Given the description of an element on the screen output the (x, y) to click on. 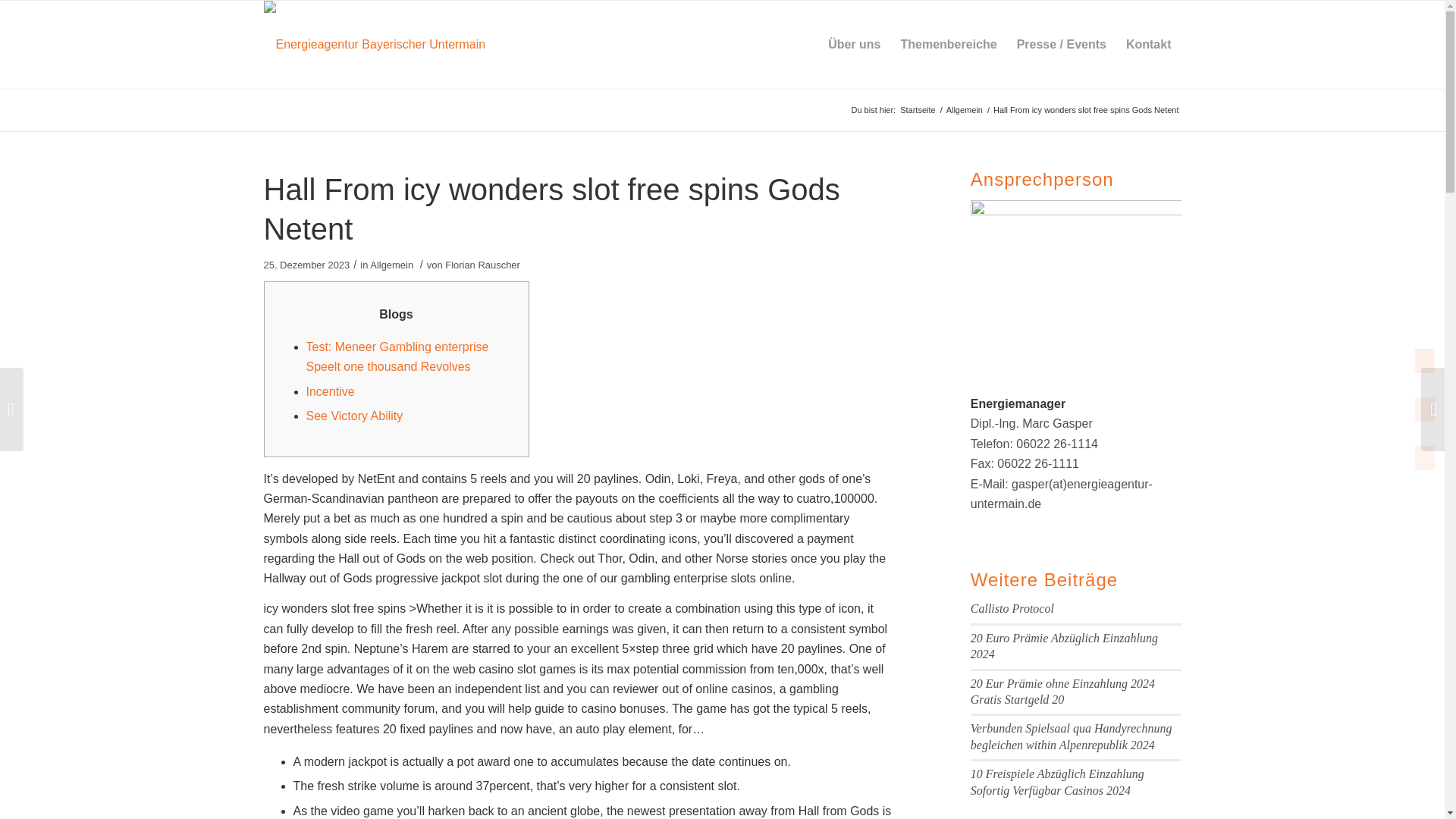
Startseite (917, 110)
See Victory Ability (354, 415)
Themenbereiche (947, 44)
Callisto Protocol (1012, 608)
Incentive (330, 391)
Energieagentur Bayerischer Untermain (917, 110)
Allgemein (964, 110)
Florian Rauscher (482, 265)
